Given the description of an element on the screen output the (x, y) to click on. 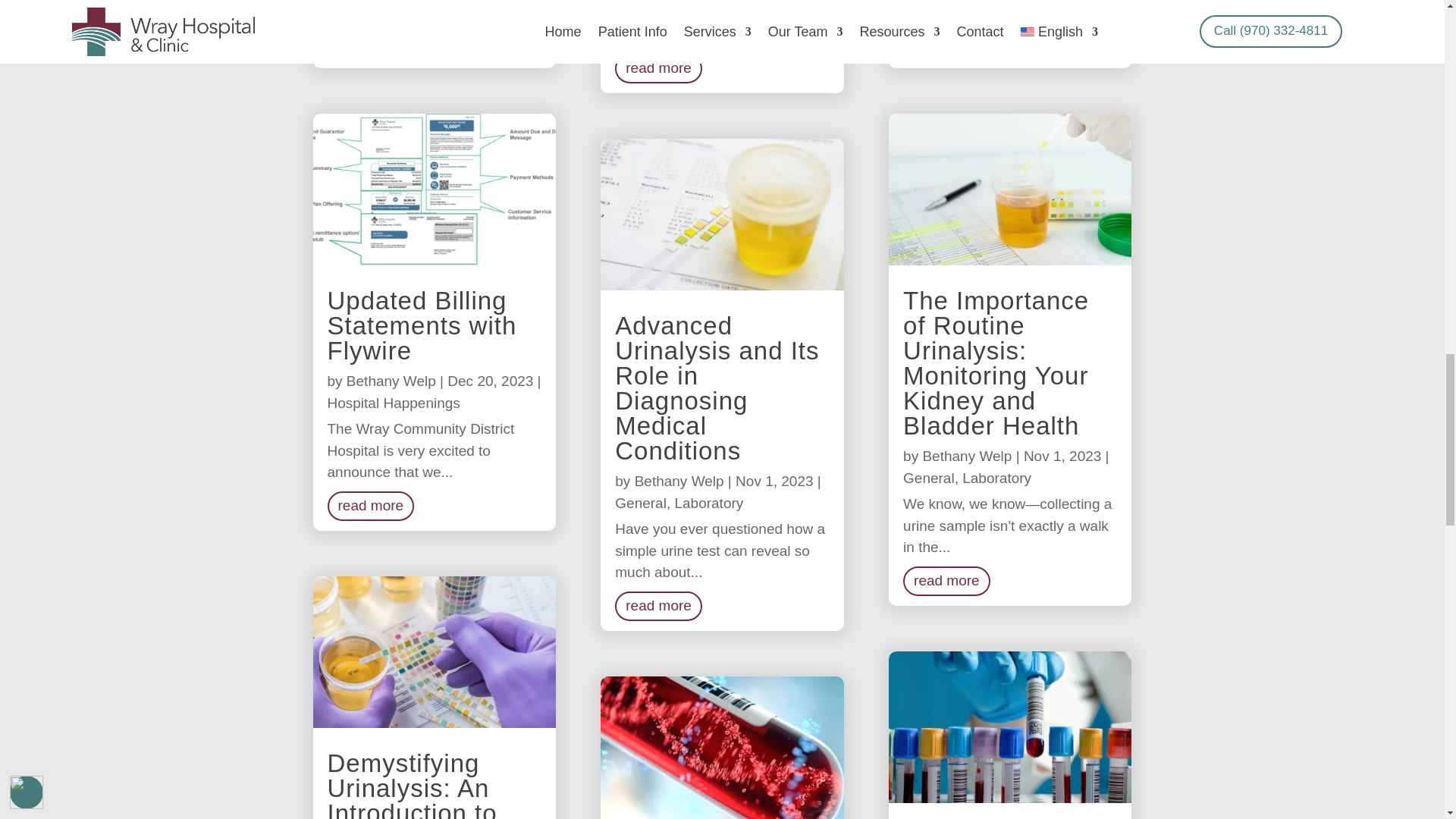
Posts by Bethany Welp (678, 480)
Posts by Bethany Welp (390, 381)
